Given the description of an element on the screen output the (x, y) to click on. 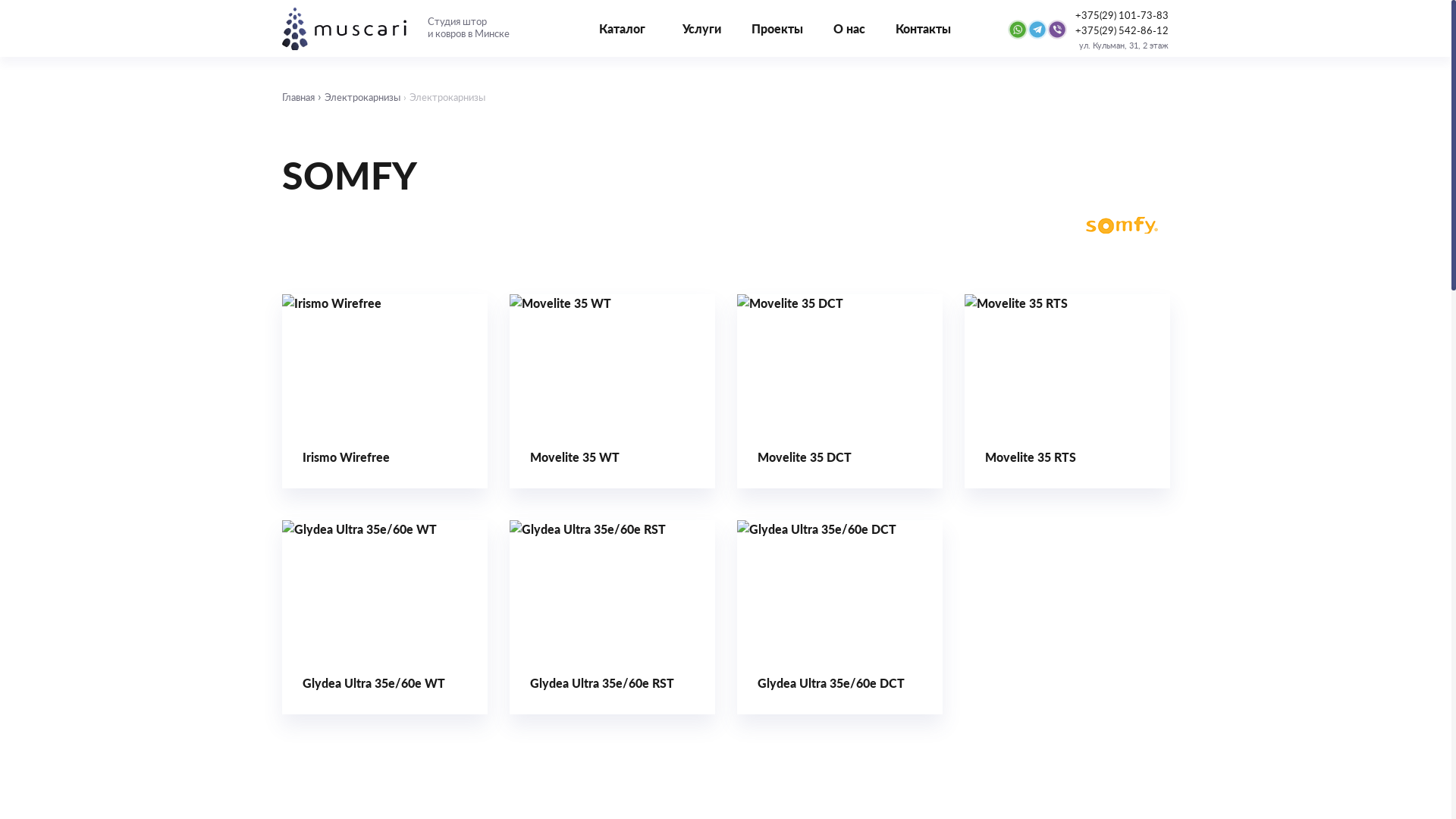
Glydea Ultra 35e/60e RST Element type: text (612, 617)
Movelite 35 WT Element type: text (612, 391)
Glydea Ultra 35e/60e WT Element type: text (384, 617)
Glydea Ultra 35e/60e DCT Element type: text (839, 617)
+375(29) 101-73-83 Element type: text (1121, 15)
Irismo Wirefree Element type: text (384, 391)
Movelite 35 DCT Element type: text (839, 391)
Movelite 35 RTS Element type: text (1067, 391)
+375(29) 542-86-12 Element type: text (1121, 30)
